Given the description of an element on the screen output the (x, y) to click on. 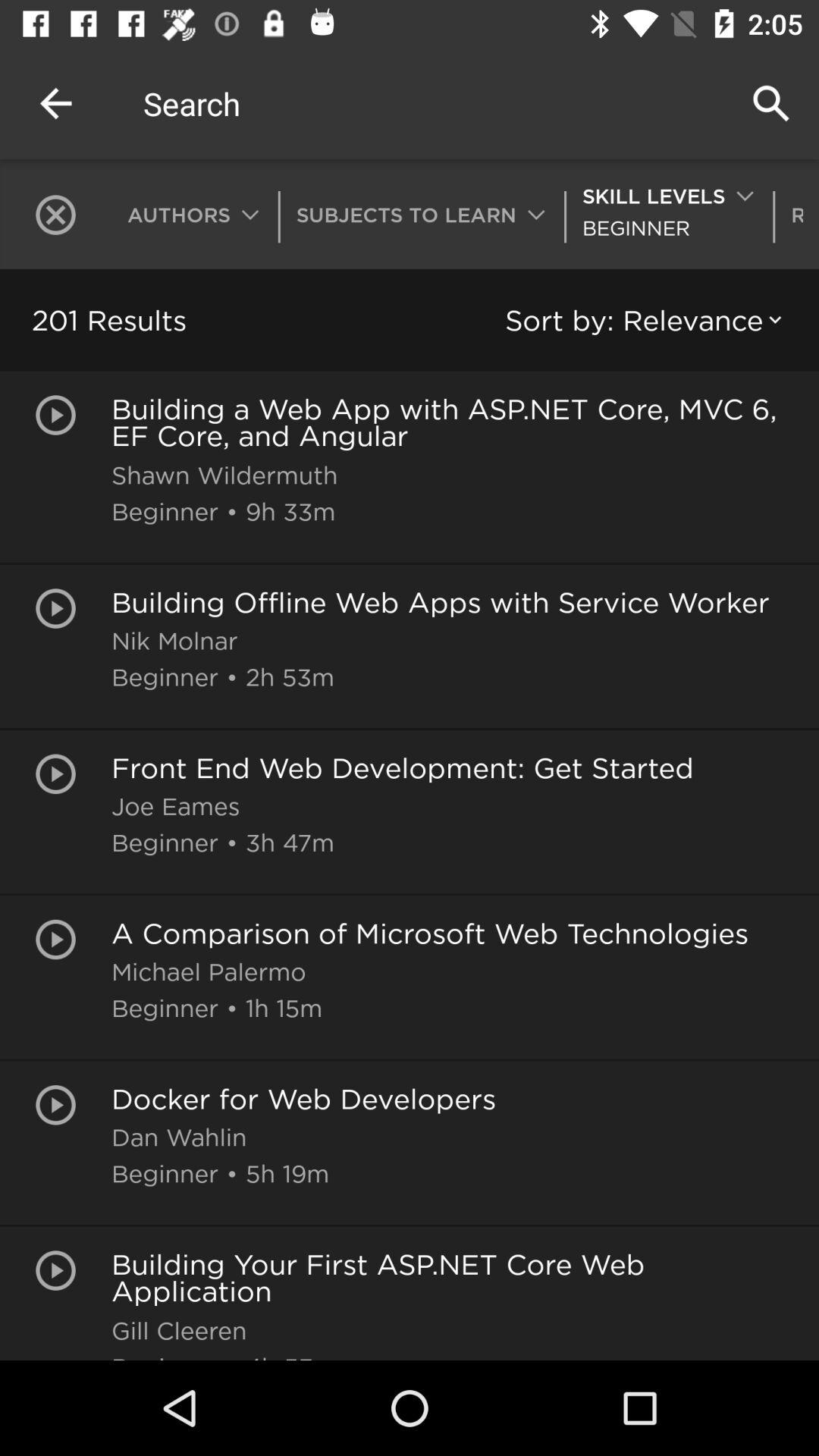
launch app to the left of search app (55, 103)
